Given the description of an element on the screen output the (x, y) to click on. 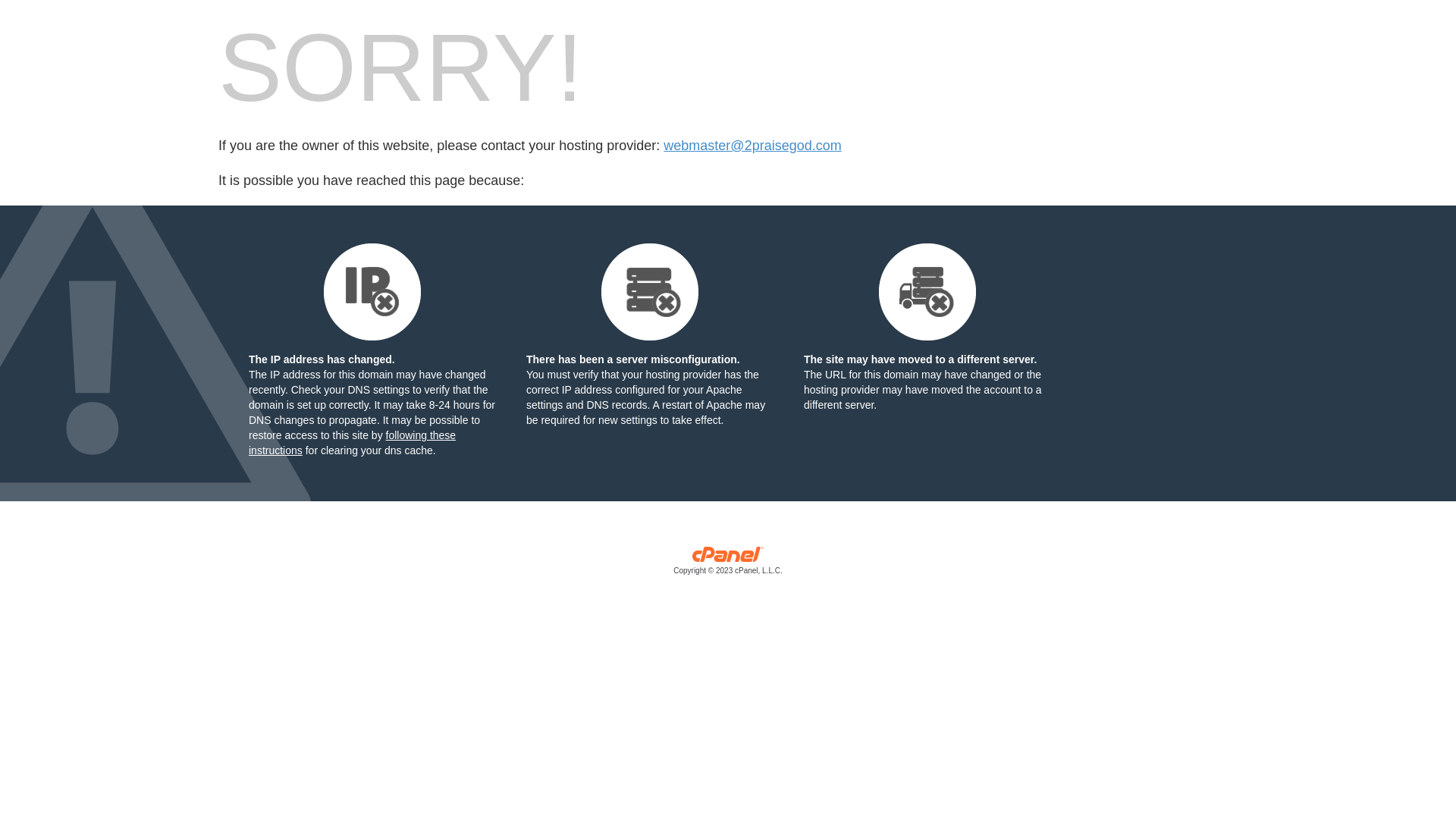
following these instructions Element type: text (351, 442)
webmaster@2praisegod.com Element type: text (751, 145)
